Given the description of an element on the screen output the (x, y) to click on. 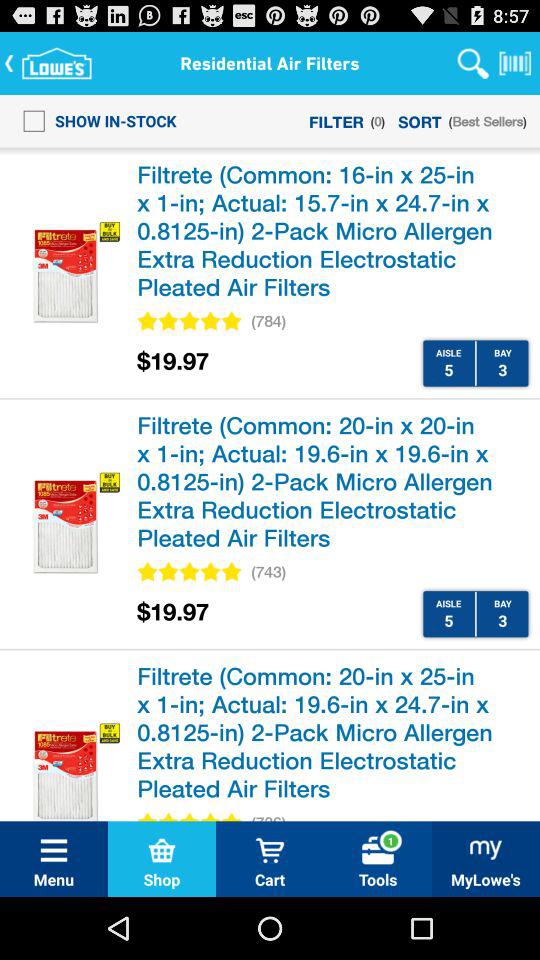
scroll until the sort item (419, 120)
